Given the description of an element on the screen output the (x, y) to click on. 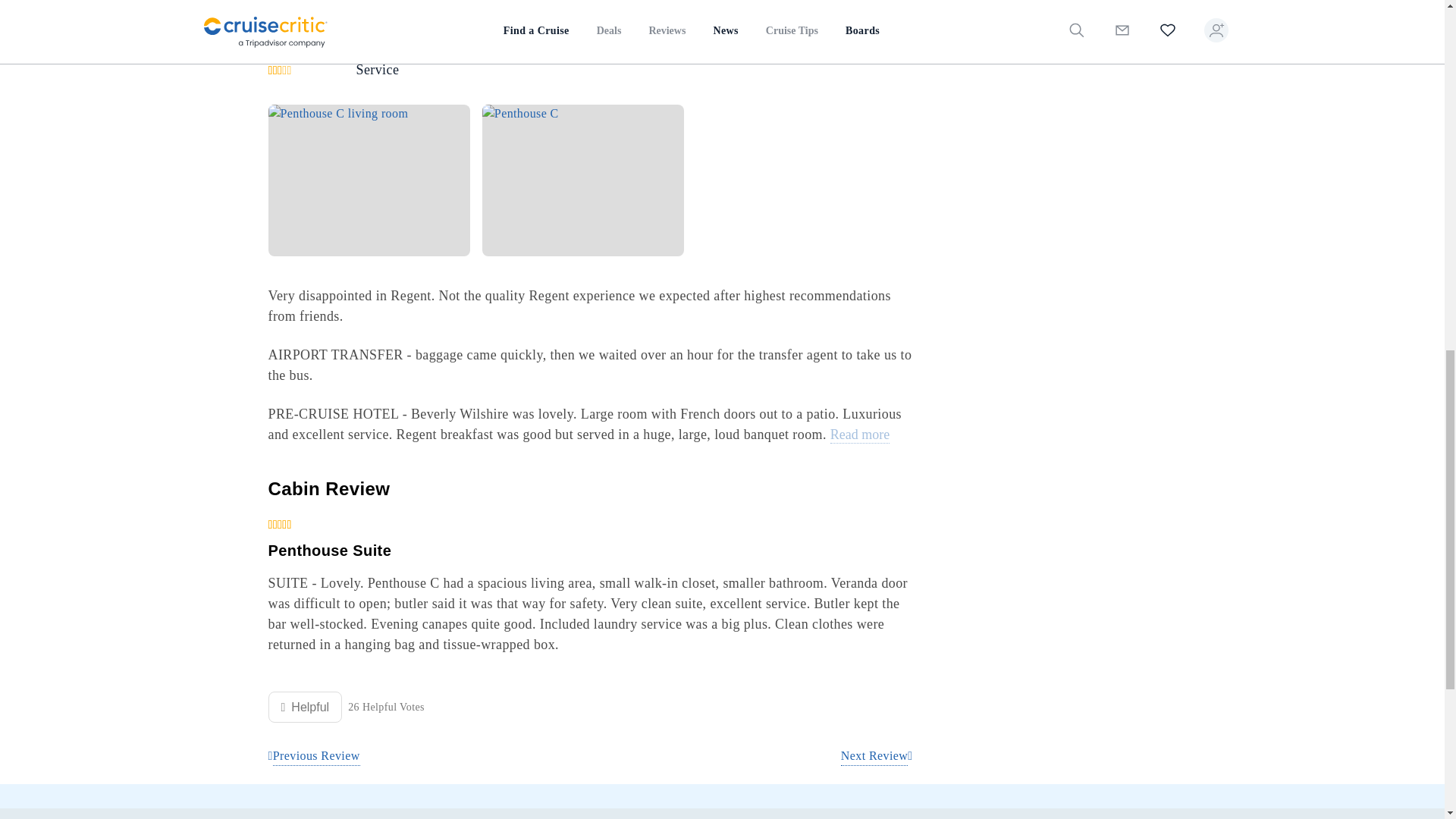
Helpful (304, 706)
Next Review (876, 755)
Previous Review (313, 755)
Read more (859, 434)
